Given the description of an element on the screen output the (x, y) to click on. 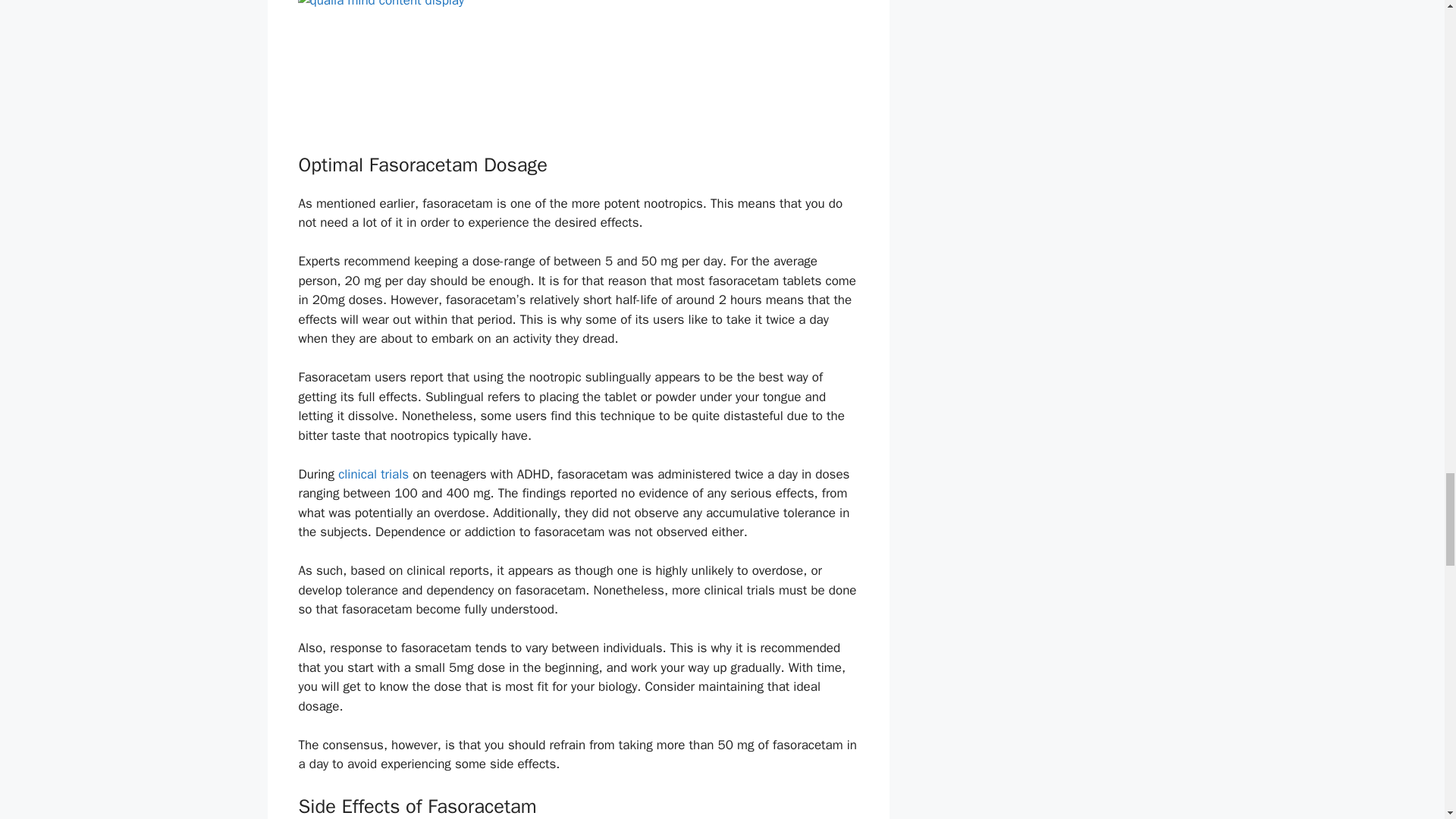
qualia mind content display (578, 67)
clinical trials (373, 474)
